Given the description of an element on the screen output the (x, y) to click on. 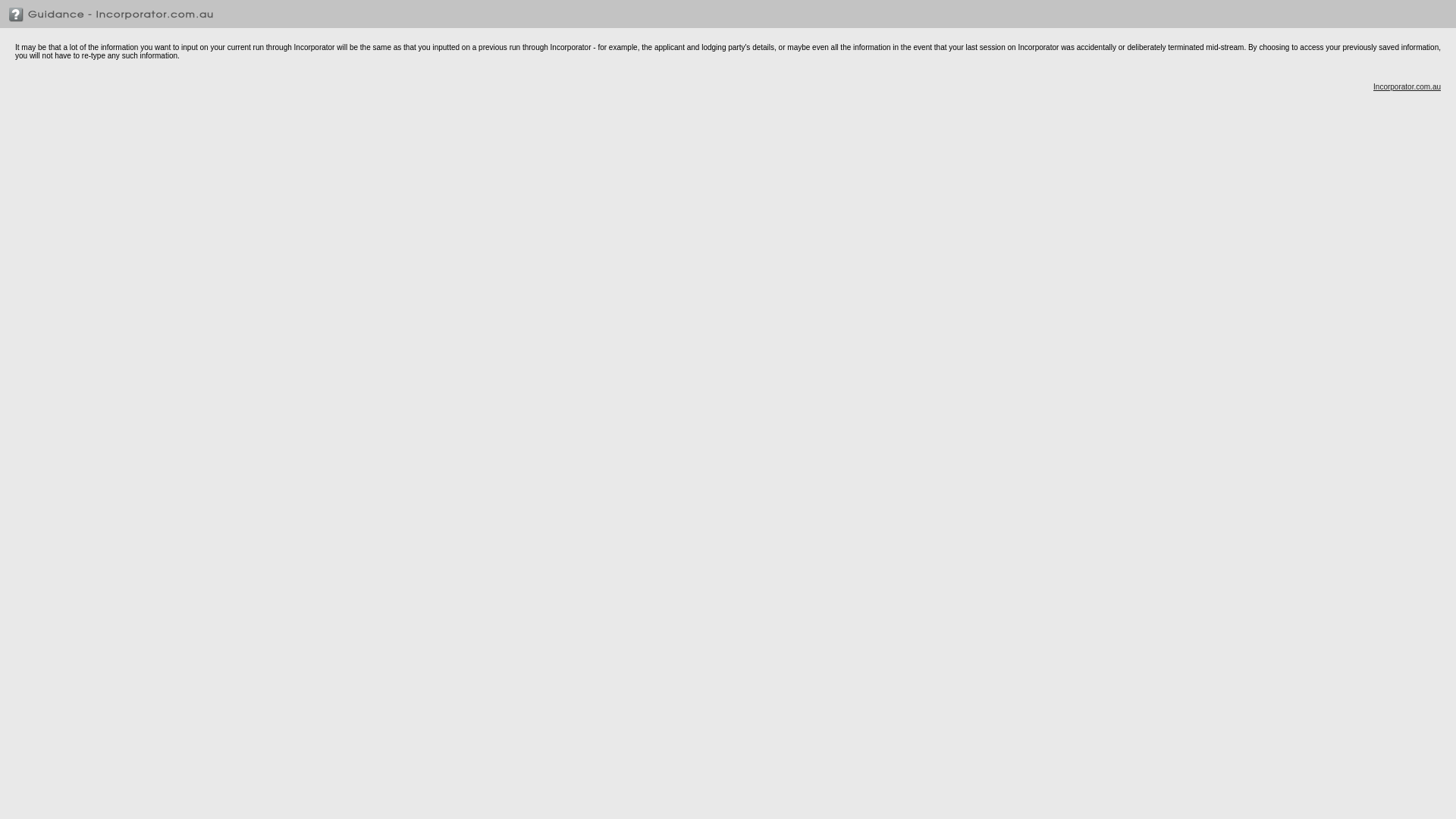
Incorporator.com.au Element type: text (1406, 86)
